Given the description of an element on the screen output the (x, y) to click on. 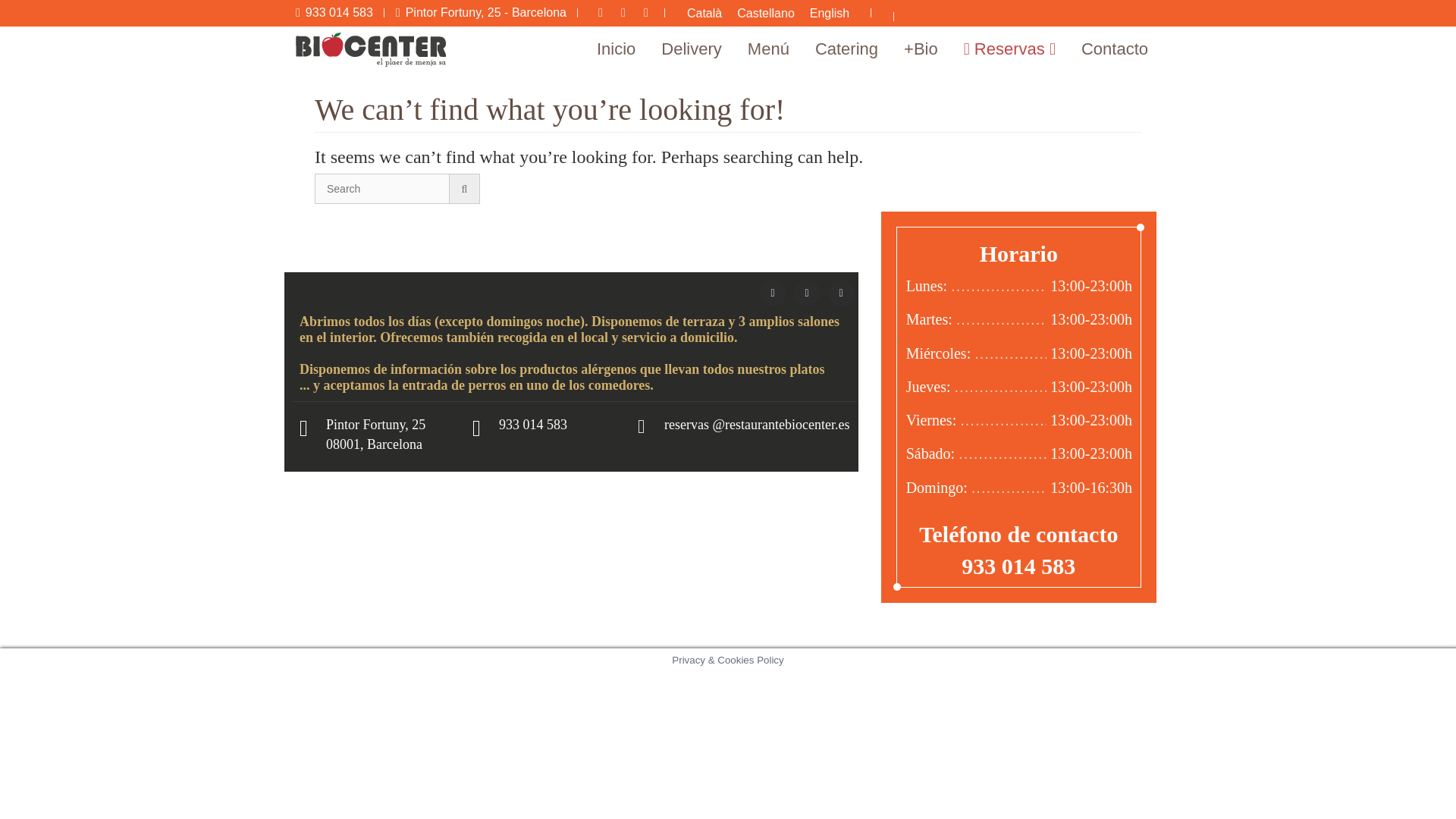
Inicio (616, 49)
English (829, 13)
Reservas (1009, 49)
Pintor Fortuny, 25 - Barcelona (481, 11)
Castellano (765, 13)
Catering (846, 49)
Contacto (1115, 49)
Delivery (691, 49)
